Given the description of an element on the screen output the (x, y) to click on. 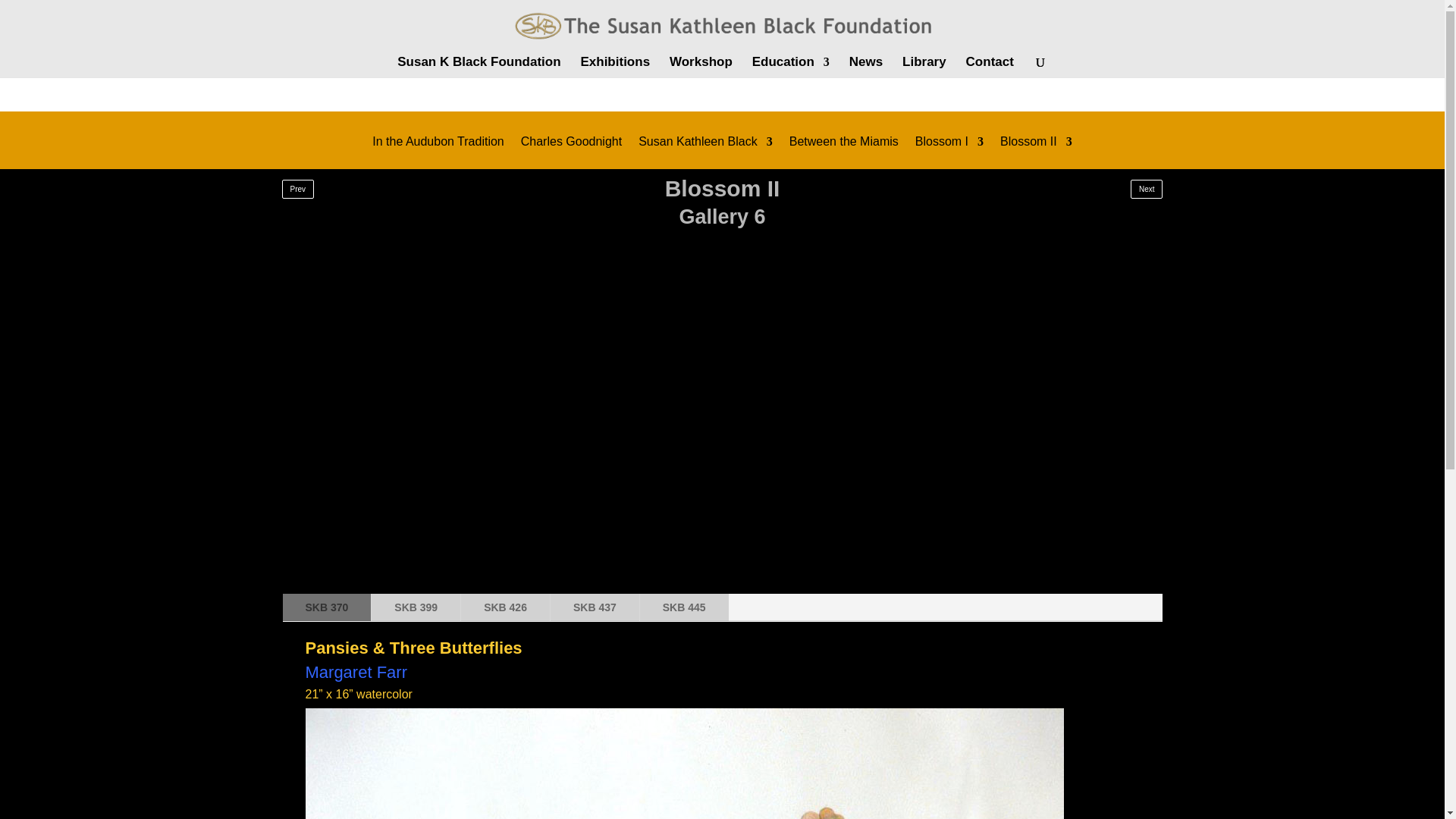
News (865, 66)
Workshop (700, 66)
Education (790, 66)
Contact (989, 66)
Blossom II (1035, 152)
In the Audubon Tradition (437, 152)
Susan Kathleen Black (706, 152)
Susan K Black Foundation (478, 66)
Between the Miamis (843, 152)
Exhibitions (614, 66)
